Given the description of an element on the screen output the (x, y) to click on. 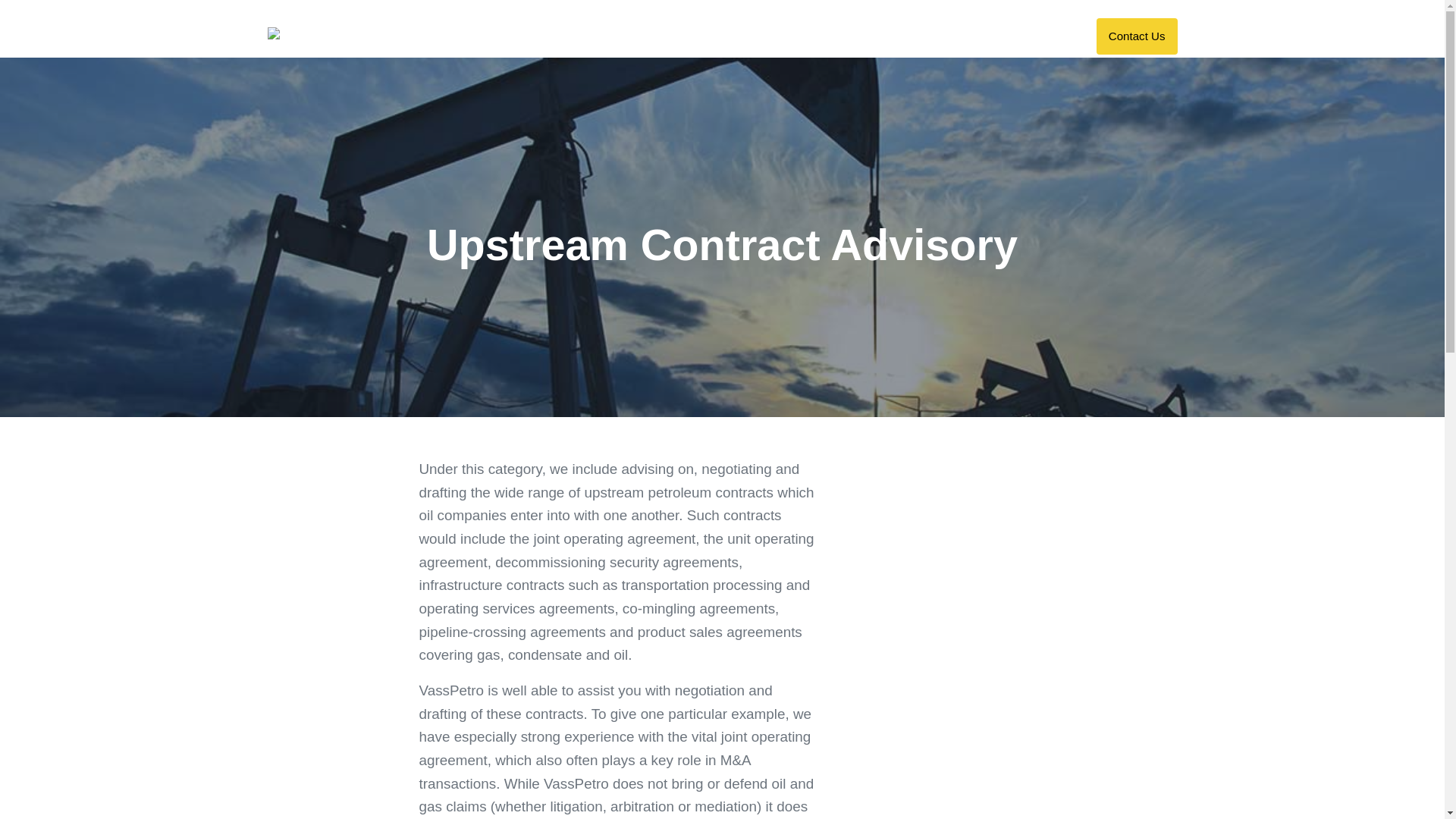
Publications (1043, 36)
Testimonials (957, 36)
Services (785, 36)
Contact Us (1136, 36)
Home (719, 36)
Who We Are (869, 36)
